Given the description of an element on the screen output the (x, y) to click on. 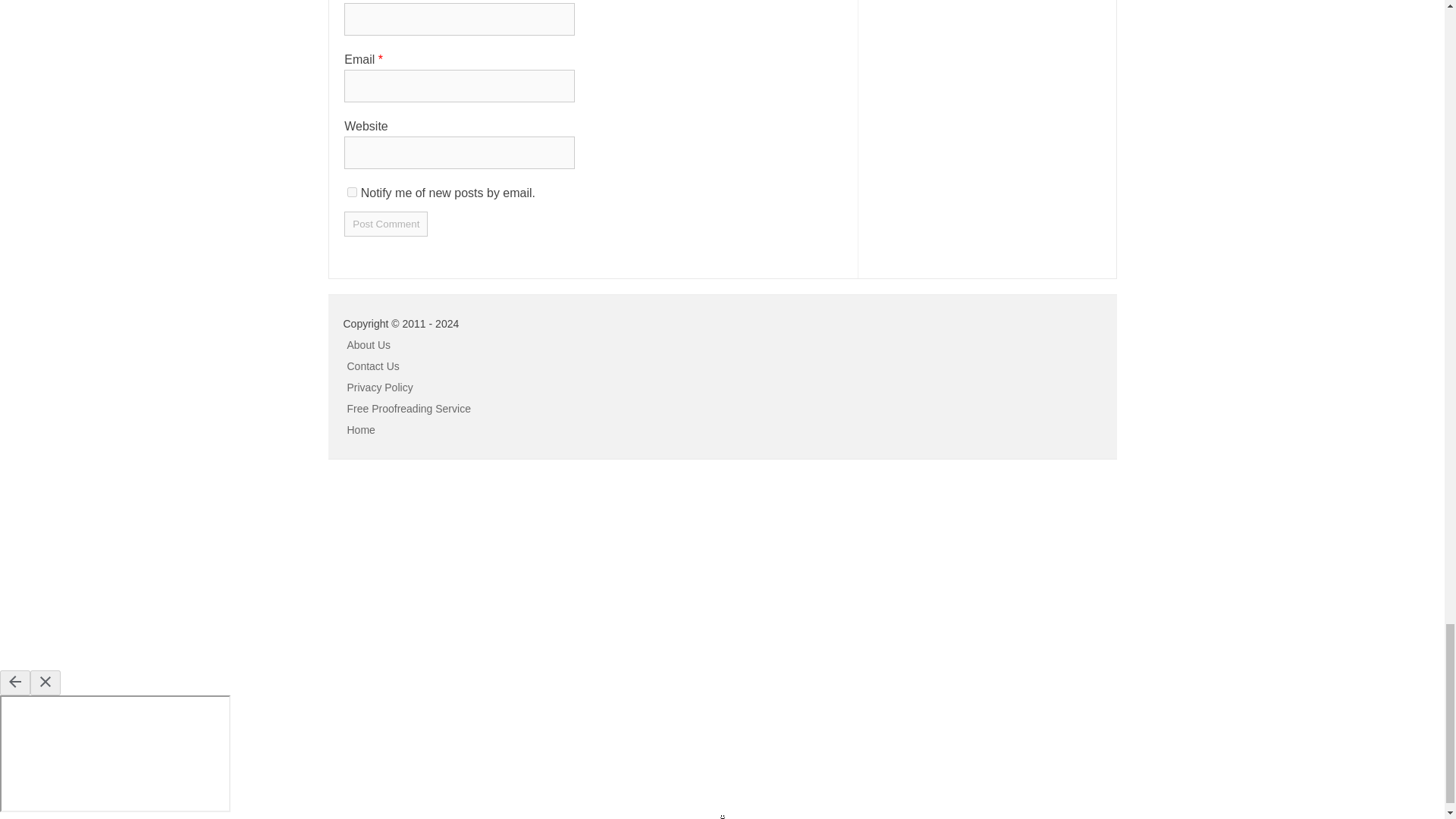
Contact Us (372, 366)
Free Proofreading Service (408, 408)
Advertisement (113, 572)
Home (361, 429)
About Us (369, 345)
Privacy Policy (380, 387)
subscribe (351, 192)
Post Comment (385, 223)
Post Comment (385, 223)
